Given the description of an element on the screen output the (x, y) to click on. 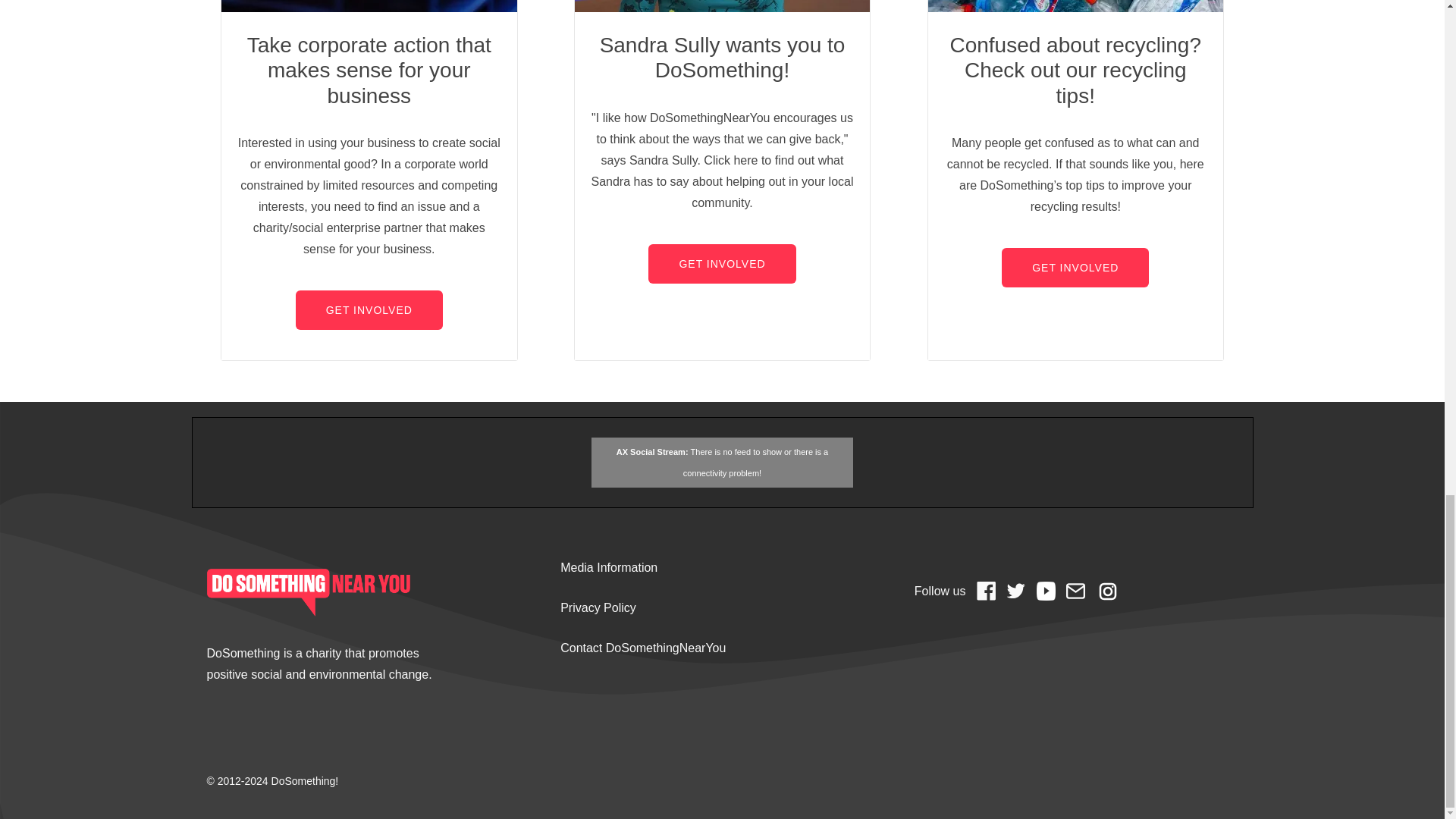
GET INVOLVED (720, 263)
GET INVOLVED (368, 310)
Contact DoSomethingNearYou (642, 647)
Privacy Policy (598, 607)
GET INVOLVED (1074, 267)
Media Information (609, 567)
